Given the description of an element on the screen output the (x, y) to click on. 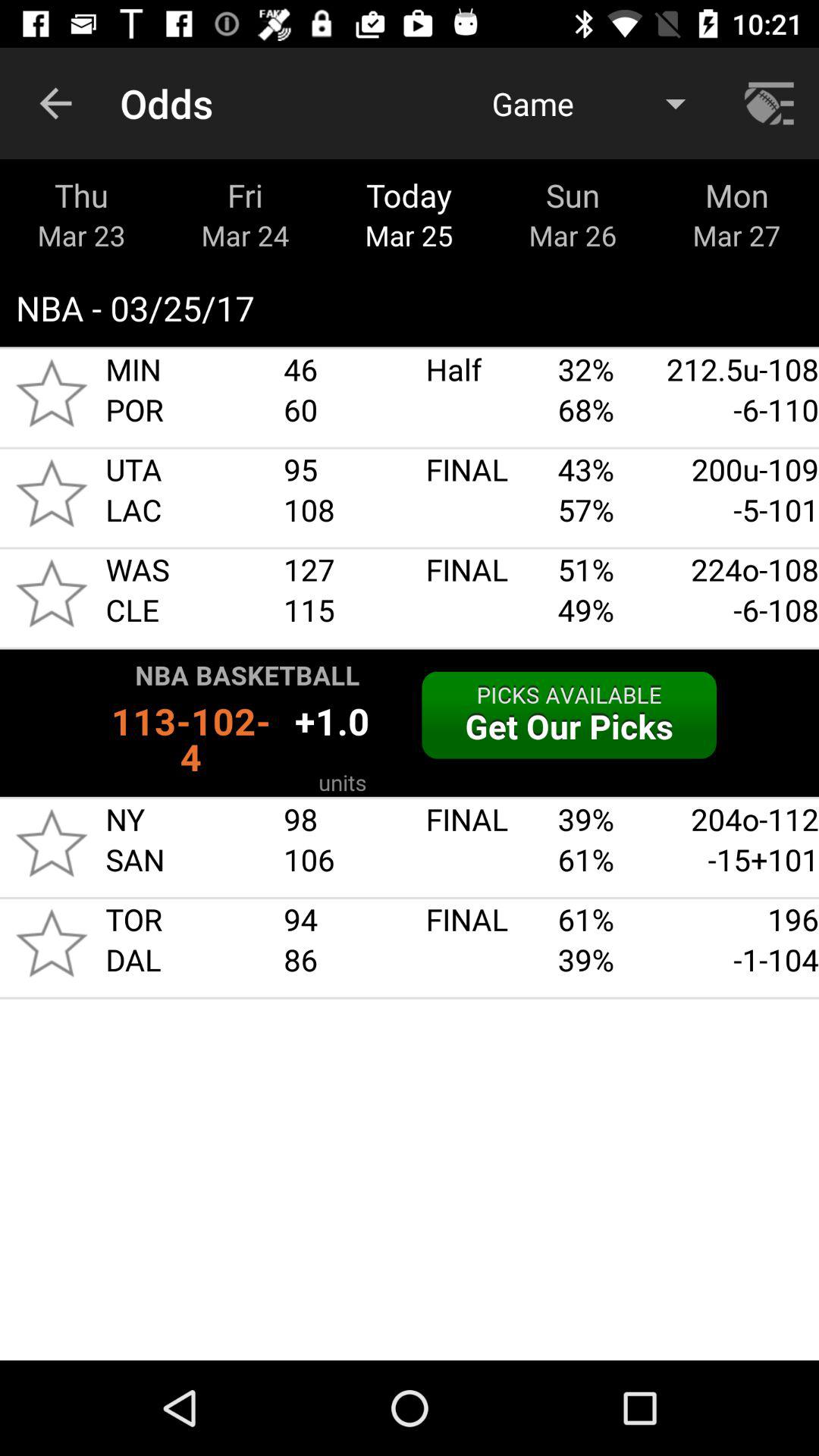
open options menu (771, 103)
